Given the description of an element on the screen output the (x, y) to click on. 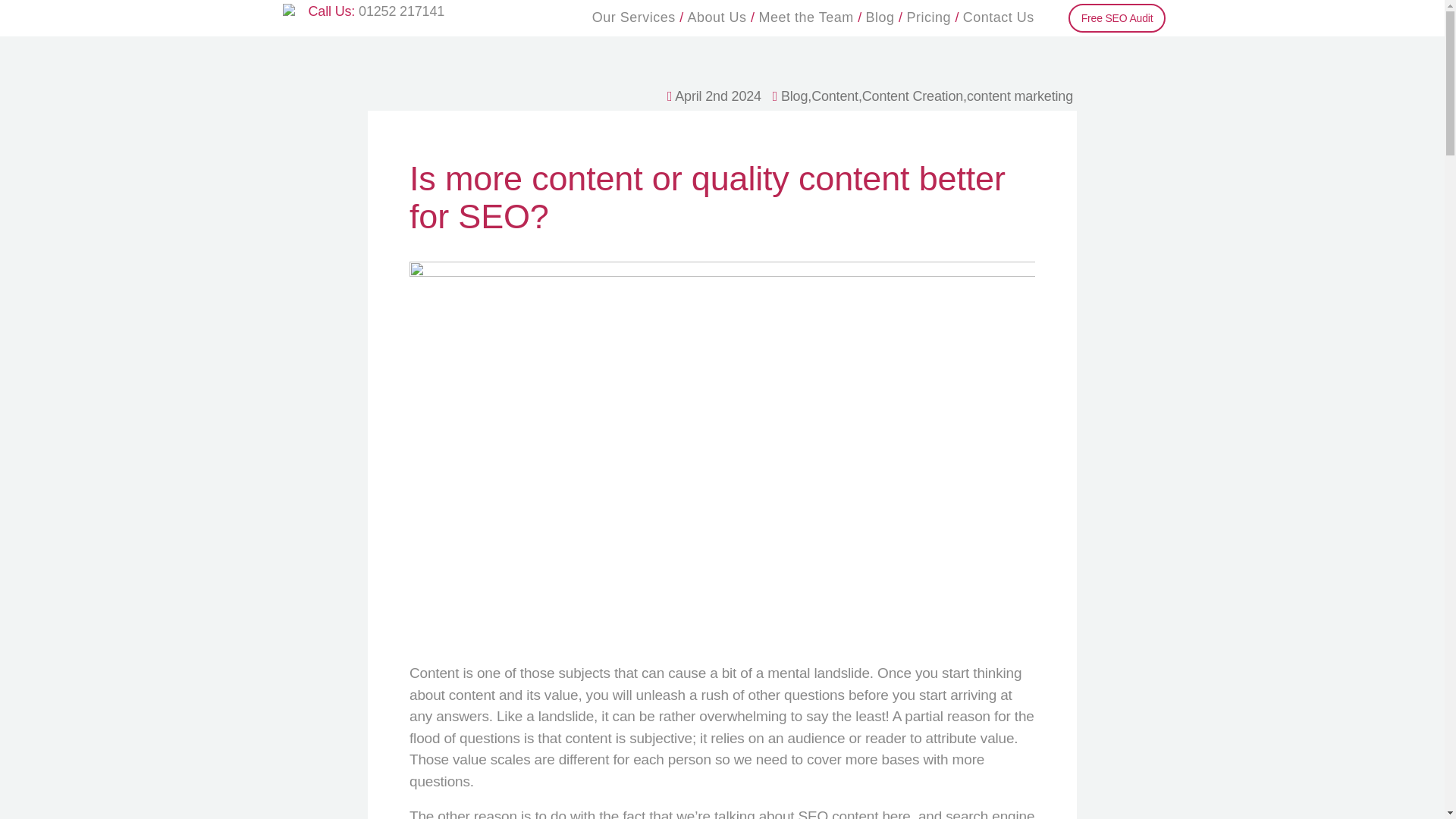
About Us (716, 17)
Content Creation (911, 96)
find out about the Leapfrog SEO team (716, 17)
content marketing (1019, 96)
Free SEO Audit (1117, 18)
Pricing (927, 17)
Content (834, 96)
understand what your website needs to get on Google page 1 (1117, 18)
Meet the Team (805, 17)
check out the SEO monthly packages available (927, 17)
